Given the description of an element on the screen output the (x, y) to click on. 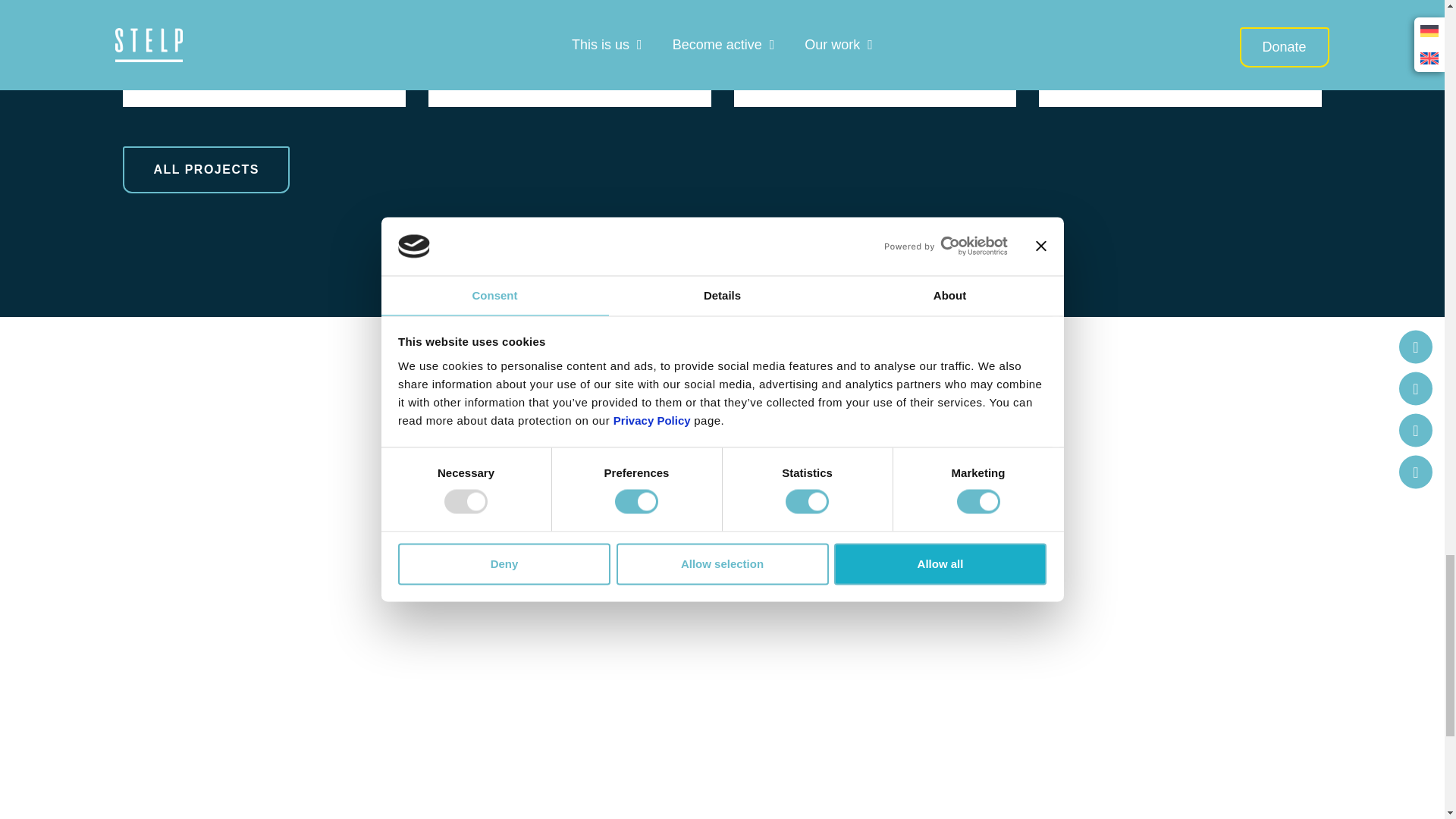
IMG-20240624-WA0182 (262, 10)
